Given the description of an element on the screen output the (x, y) to click on. 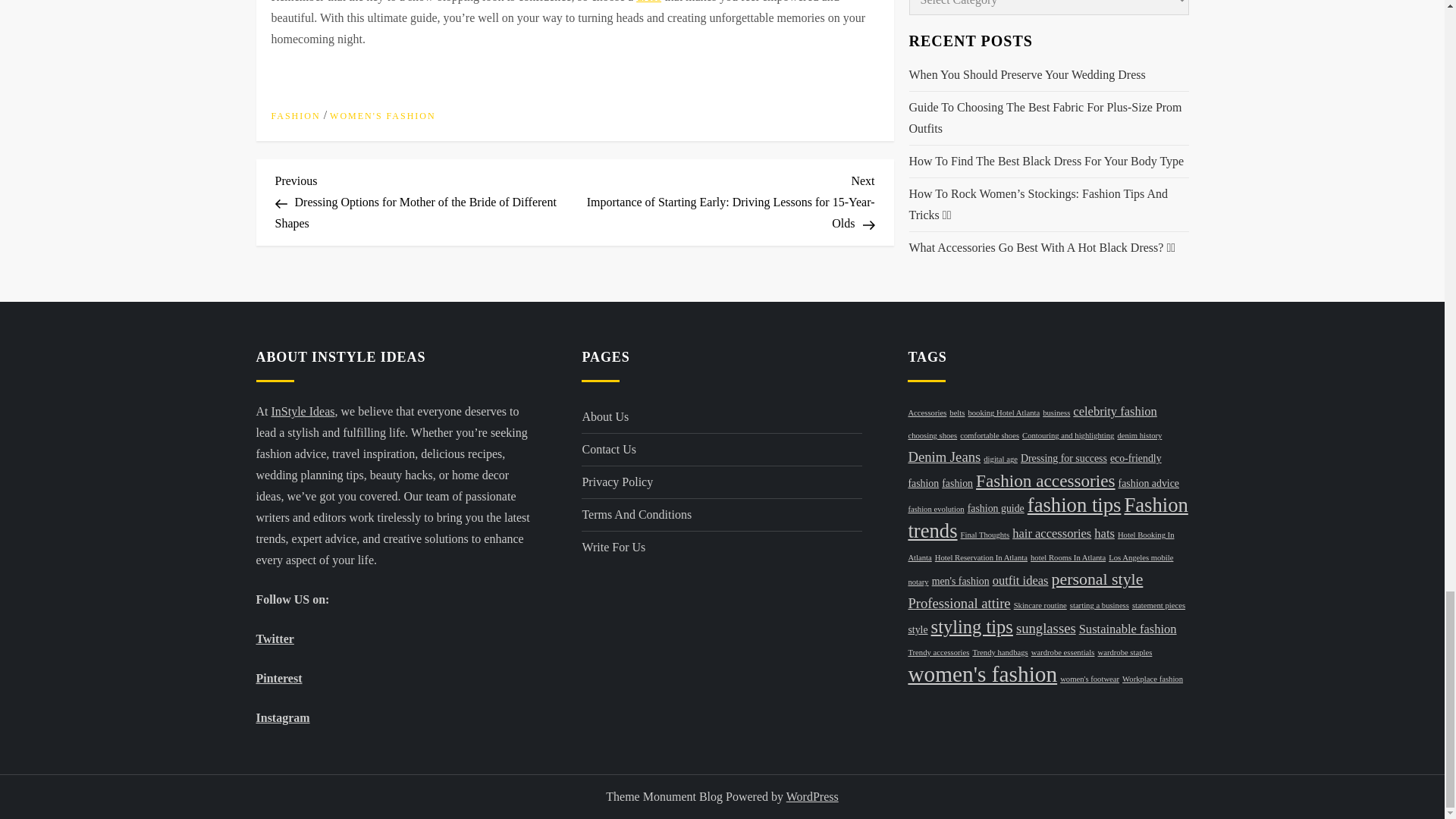
FASHION (295, 116)
WOMEN'S FASHION (382, 116)
dress (648, 1)
